Given the description of an element on the screen output the (x, y) to click on. 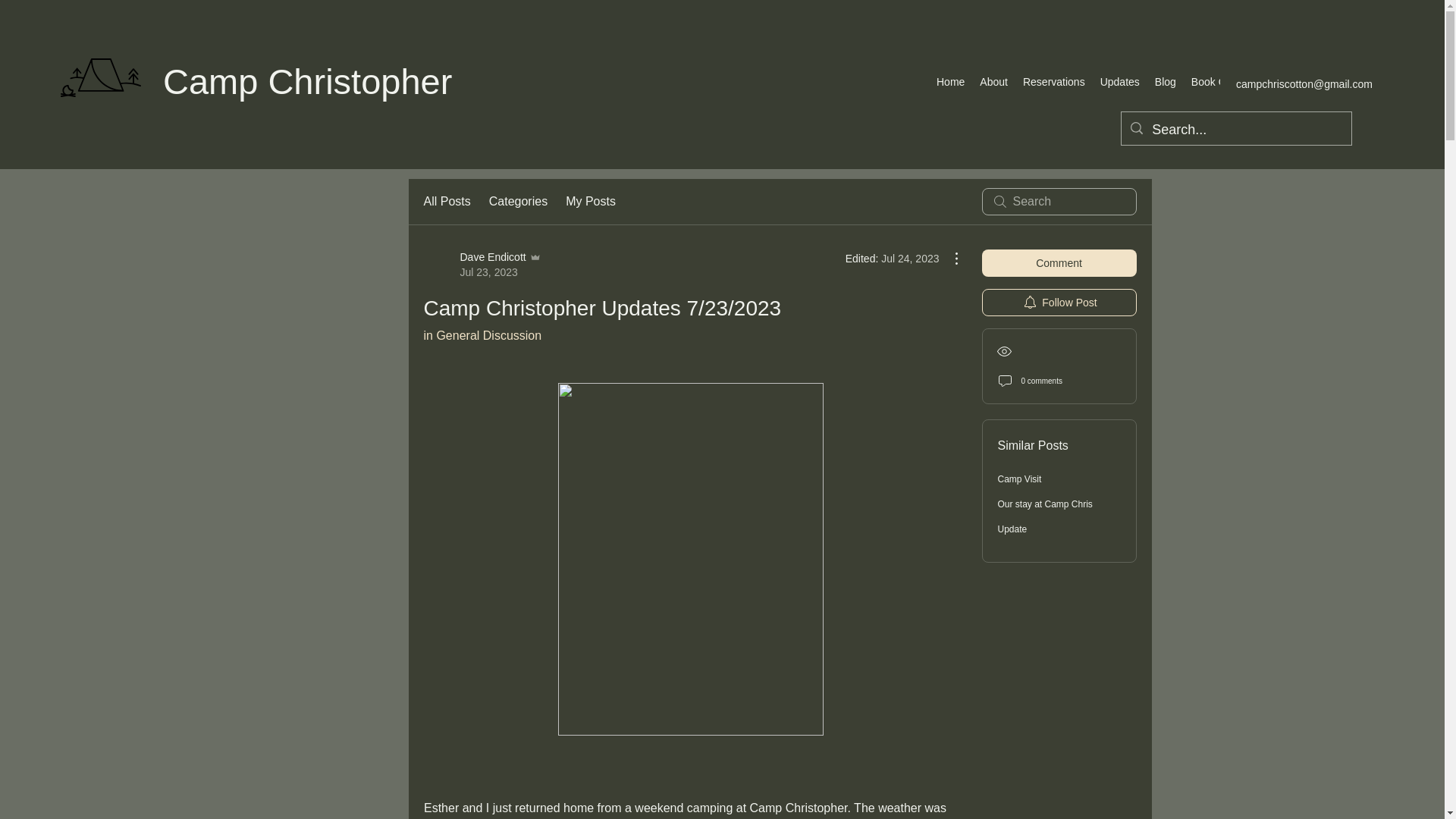
Updates (1120, 83)
Camp Visit (1019, 479)
Camp Christopher (307, 81)
Update (1012, 529)
All Posts (446, 201)
Follow Post (1058, 302)
in General Discussion (481, 264)
Home (482, 335)
Book Online (950, 83)
